Given the description of an element on the screen output the (x, y) to click on. 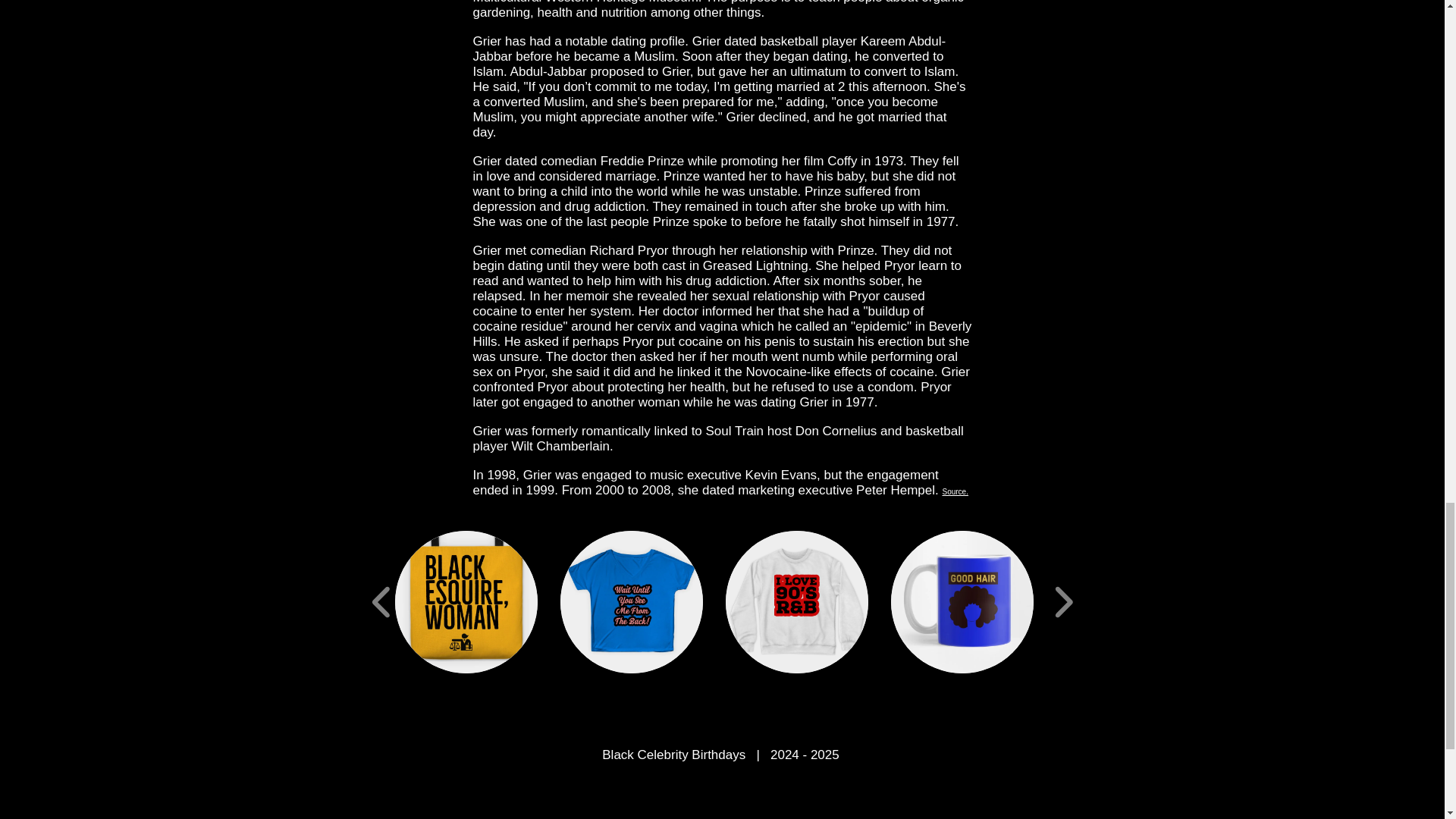
Source. (955, 490)
